Given the description of an element on the screen output the (x, y) to click on. 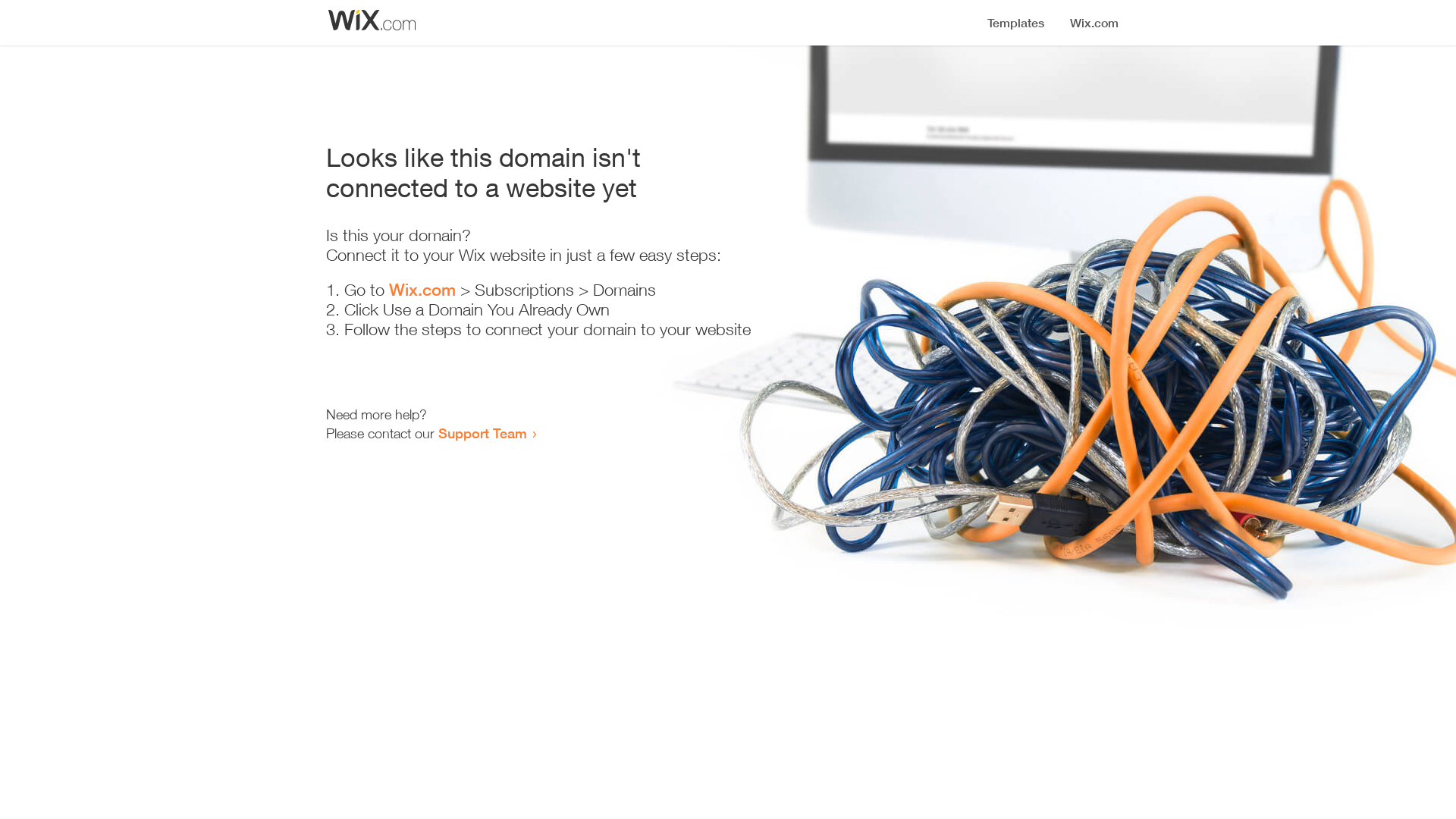
Wix.com Element type: text (422, 289)
Support Team Element type: text (482, 432)
